Given the description of an element on the screen output the (x, y) to click on. 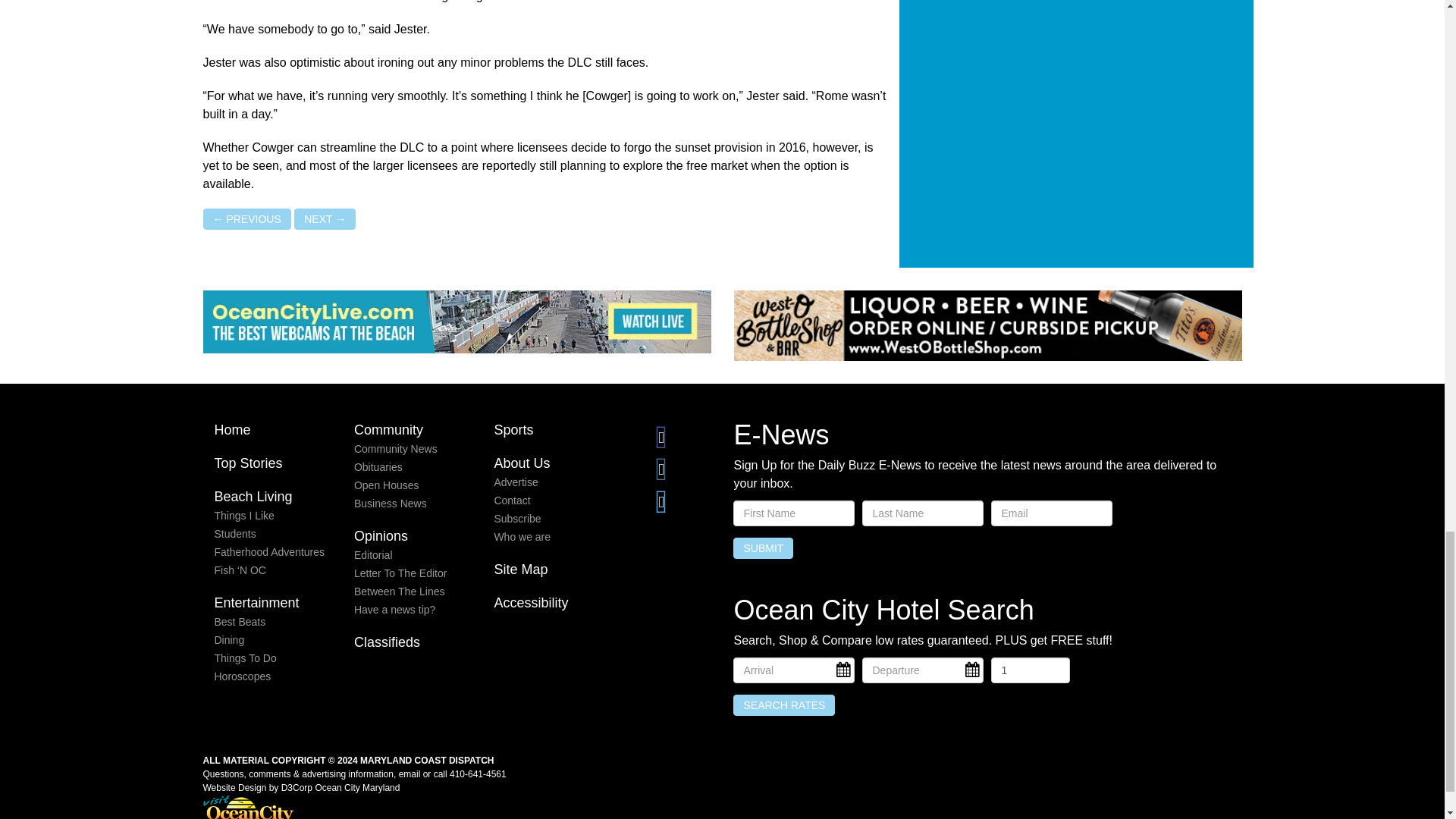
1 (1029, 670)
